Given the description of an element on the screen output the (x, y) to click on. 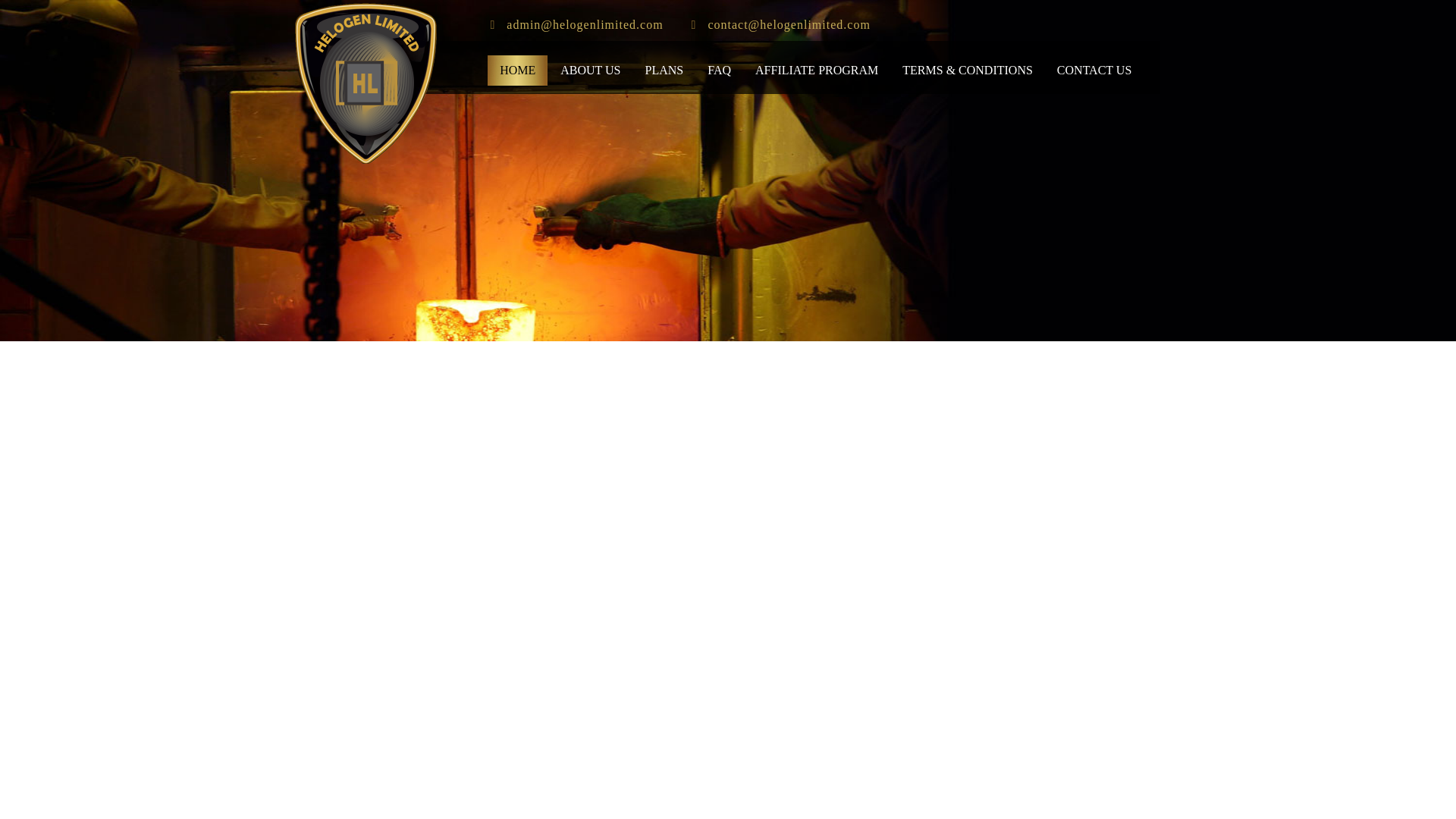
PLANS (664, 70)
HOME (517, 70)
CONTACT US (1093, 70)
FAQ (718, 70)
AFFILIATE PROGRAM (815, 70)
ABOUT US (589, 70)
